Given the description of an element on the screen output the (x, y) to click on. 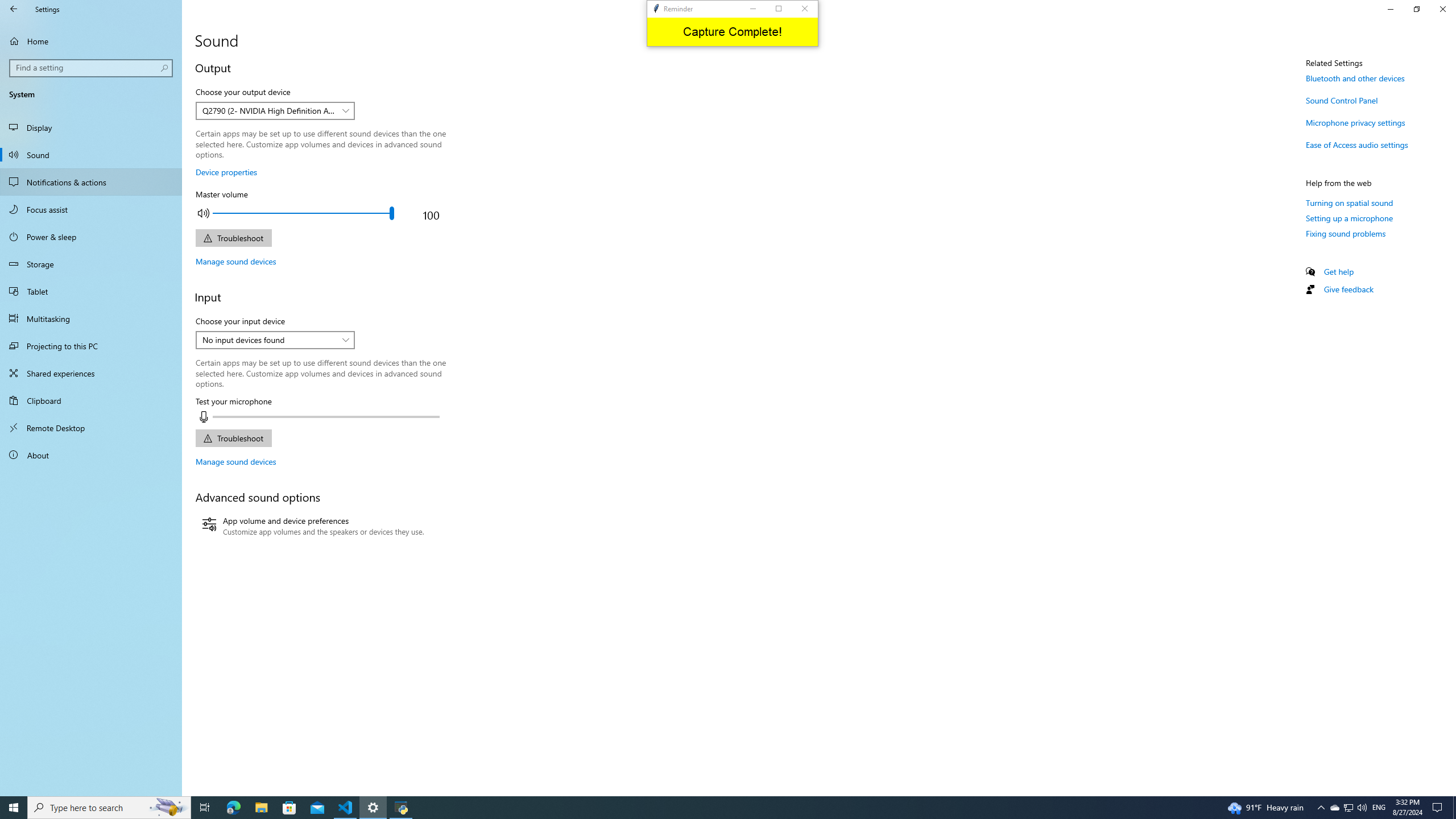
Bluetooth and other devices (1355, 77)
Shared experiences (91, 372)
Sound (91, 154)
About (91, 454)
Clipboard (91, 400)
Output device troubleshoot (233, 237)
Storage (91, 263)
Fixing sound problems (1346, 233)
